Given the description of an element on the screen output the (x, y) to click on. 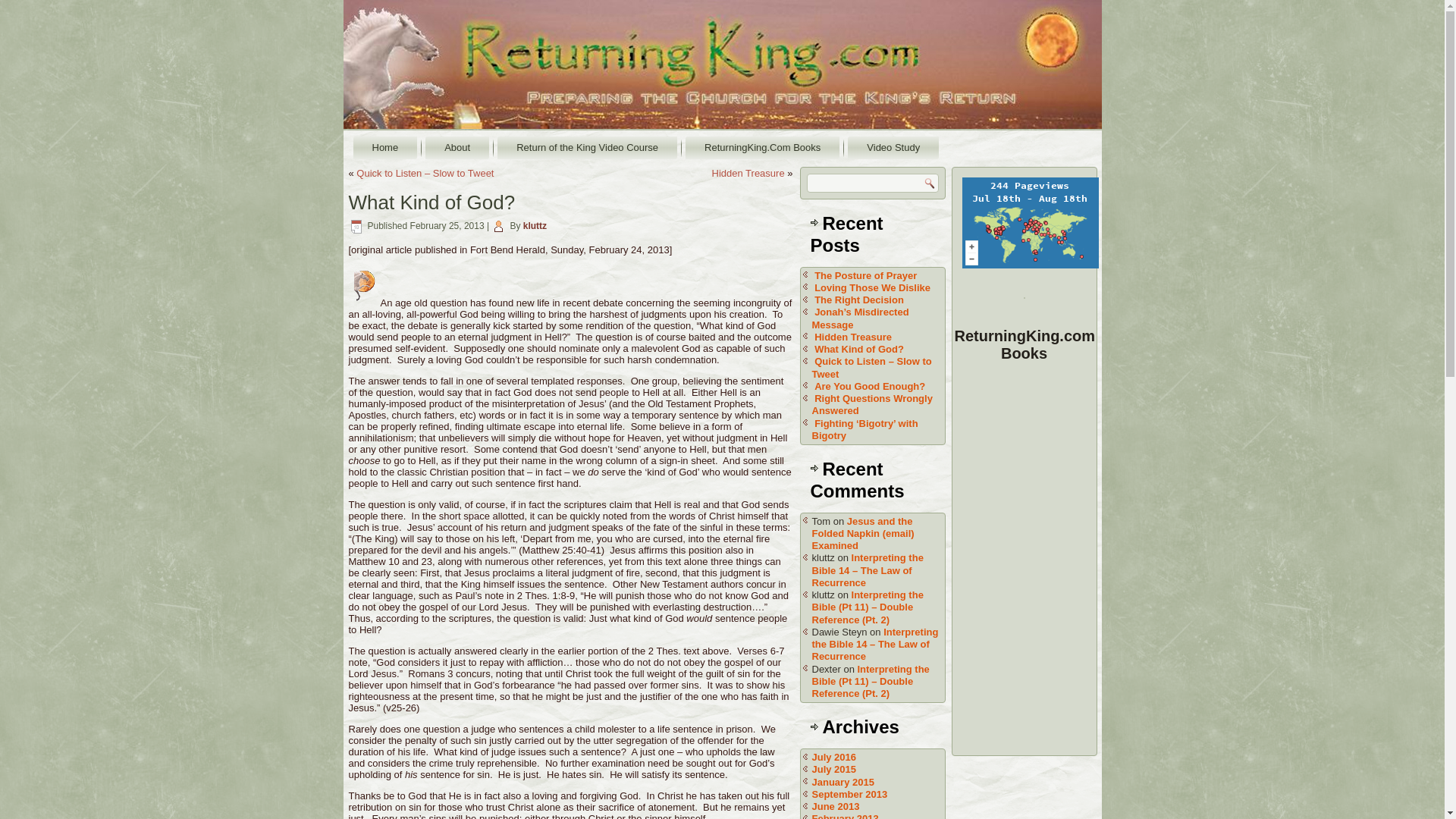
Return of the King Video Course (587, 147)
Locations of visitors to this page (1028, 222)
Home (385, 147)
Are You Good Enough? (868, 386)
Hidden Treasure (852, 337)
February 2013 (843, 816)
July 2015 (833, 768)
What Kind of God? (858, 348)
September 2013 (848, 794)
About (457, 147)
